Given the description of an element on the screen output the (x, y) to click on. 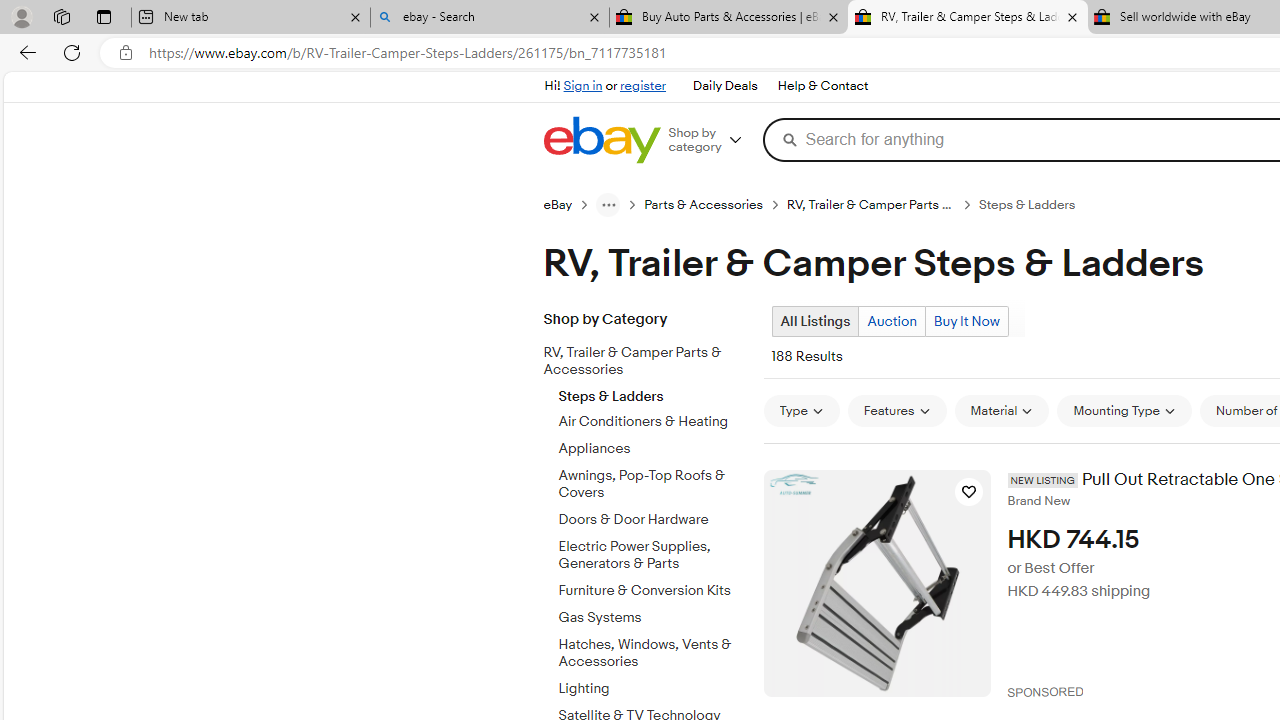
ebay - Search (490, 17)
Furniture & Conversion Kits (653, 587)
Hatches, Windows, Vents & Accessories (653, 649)
Material (1001, 410)
Buy It Now (966, 321)
Type (800, 410)
Parts & Accessories (715, 204)
Features (897, 410)
Buy It Now (966, 321)
Appliances (653, 445)
eBay (569, 204)
Electric Power Supplies, Generators & Parts (653, 555)
